Given the description of an element on the screen output the (x, y) to click on. 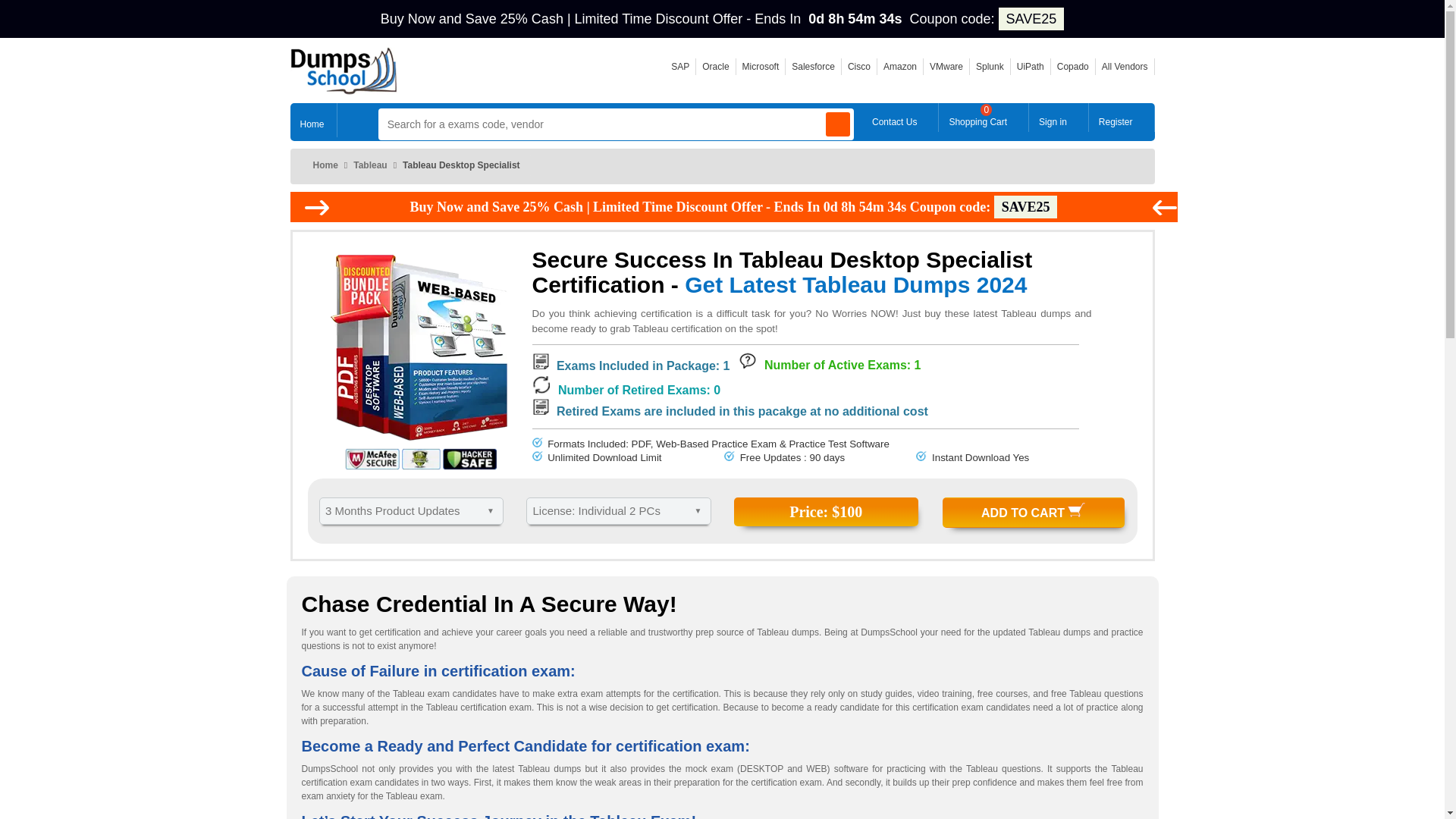
Cisco (858, 66)
VMware (946, 66)
Splunk (989, 66)
Microsoft (760, 66)
ADD TO CART (1033, 512)
UiPath (1029, 66)
Search-btn (837, 124)
Copado (1073, 66)
Oracle (715, 66)
Home (312, 120)
